Given the description of an element on the screen output the (x, y) to click on. 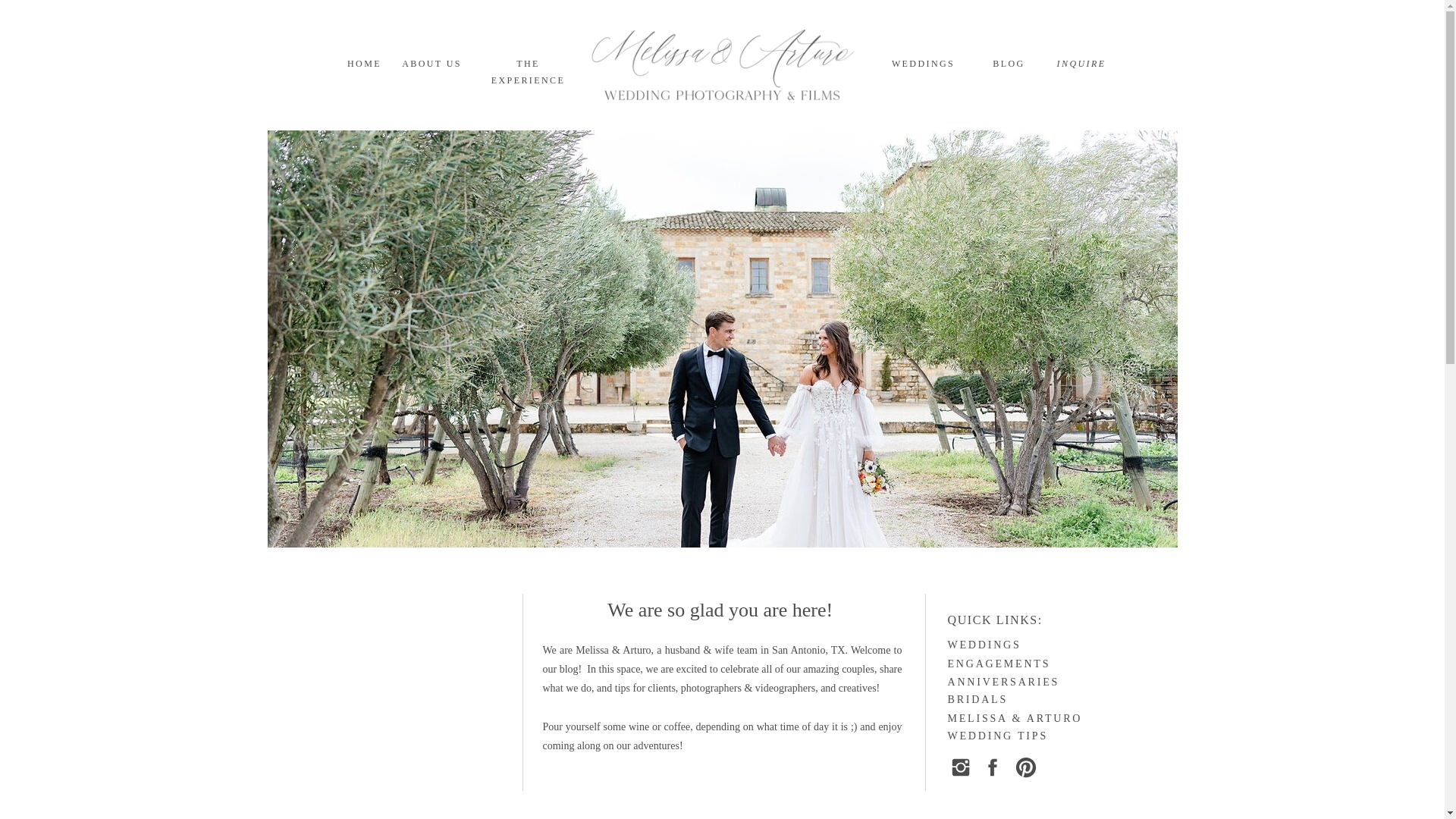
THE EXPERIENCE (527, 65)
HOME (363, 65)
ANNIVERSARIES (1002, 682)
WEDDINGS (985, 644)
BRIDALS (1002, 699)
INQUIRE (1081, 65)
WEDDINGS (923, 65)
WEDDING TIPS (1001, 737)
BLOG (1008, 65)
ABOUT US (432, 65)
